Given the description of an element on the screen output the (x, y) to click on. 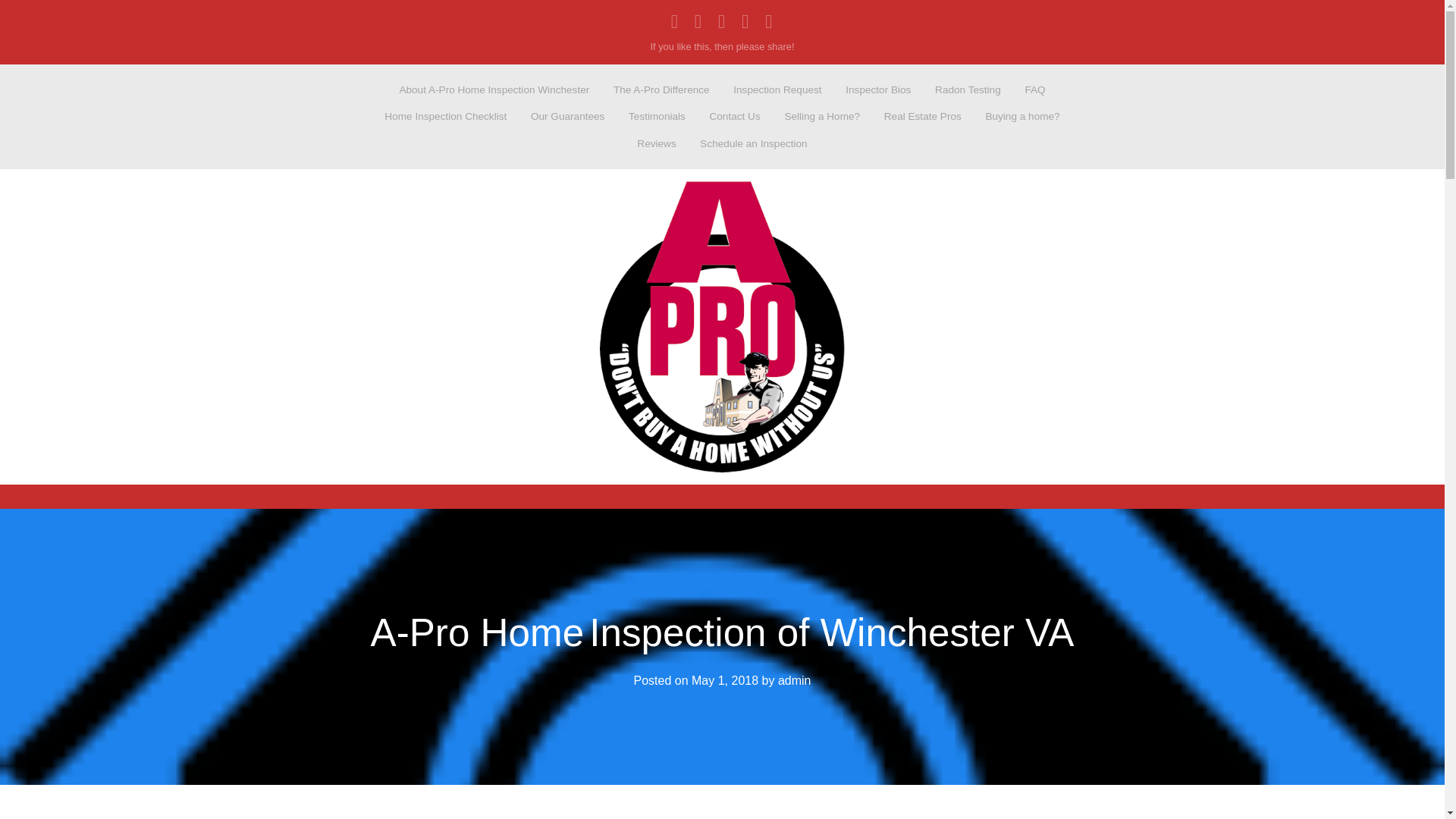
FAQ (1034, 89)
Share On Pinterest (768, 21)
Real Estate Pros (922, 117)
The A-Pro Difference (660, 89)
Share On Linkedin (698, 21)
About A-Pro Home Inspection Winchester (493, 89)
Radon Testing (967, 89)
admin (793, 680)
Inspector Bios (878, 89)
Schedule an Inspection (754, 143)
Selling a Home? (822, 117)
Inspection Request (777, 89)
Testimonials (656, 117)
Home Inspection Winchester VA (721, 326)
